Given the description of an element on the screen output the (x, y) to click on. 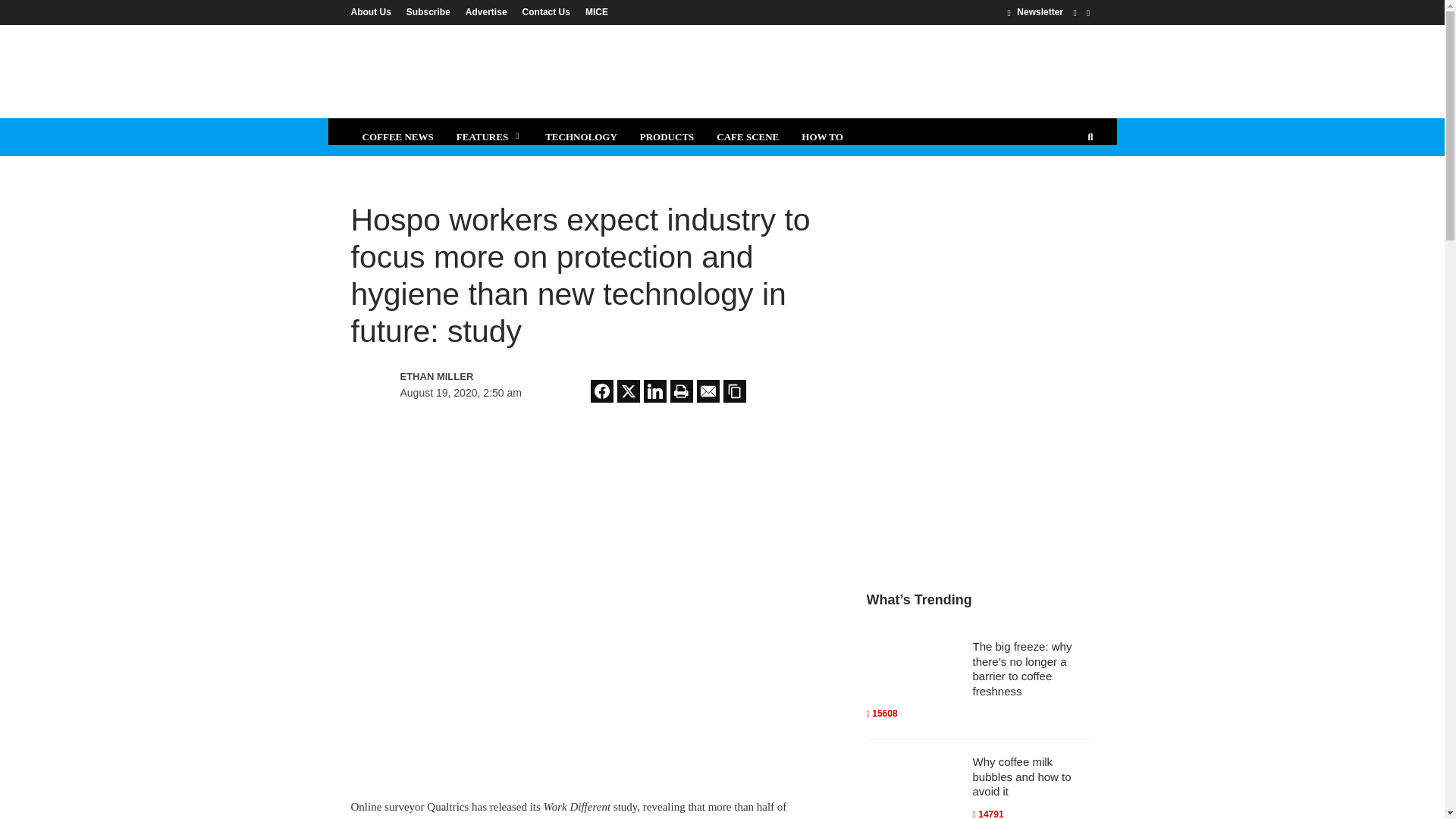
View all posts by Ethan Miller (465, 376)
PRODUCTS (667, 136)
Share on Copy Link (734, 391)
Contact Us (546, 11)
Advertise (486, 11)
COFFEE NEWS (397, 136)
Share on Facebook (601, 391)
HOW TO (822, 136)
CAFE SCENE (747, 136)
FEATURES (489, 136)
